Given the description of an element on the screen output the (x, y) to click on. 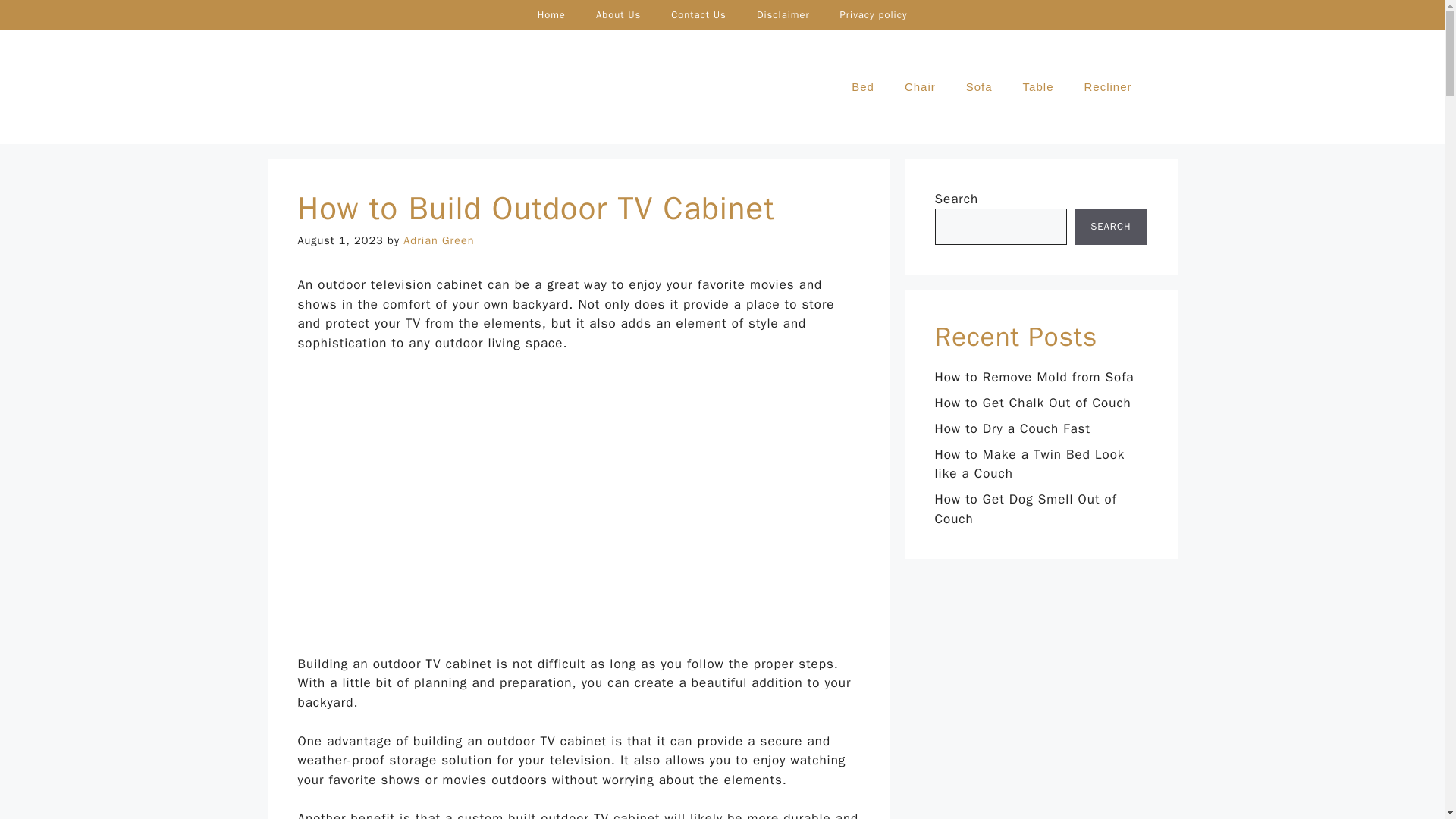
Chair (919, 86)
How to Get Chalk Out of Couch (1032, 402)
Recliner (1107, 86)
How to Remove Mold from Sofa (1034, 376)
Bed (862, 86)
Sofa (978, 86)
Adrian Green (438, 240)
About Us (618, 15)
Disclaimer (783, 15)
SEARCH (1110, 226)
Table (1037, 86)
Privacy policy (874, 15)
How to Dry a Couch Fast (1011, 428)
How to Get Dog Smell Out of Couch (1025, 509)
Home (551, 15)
